Given the description of an element on the screen output the (x, y) to click on. 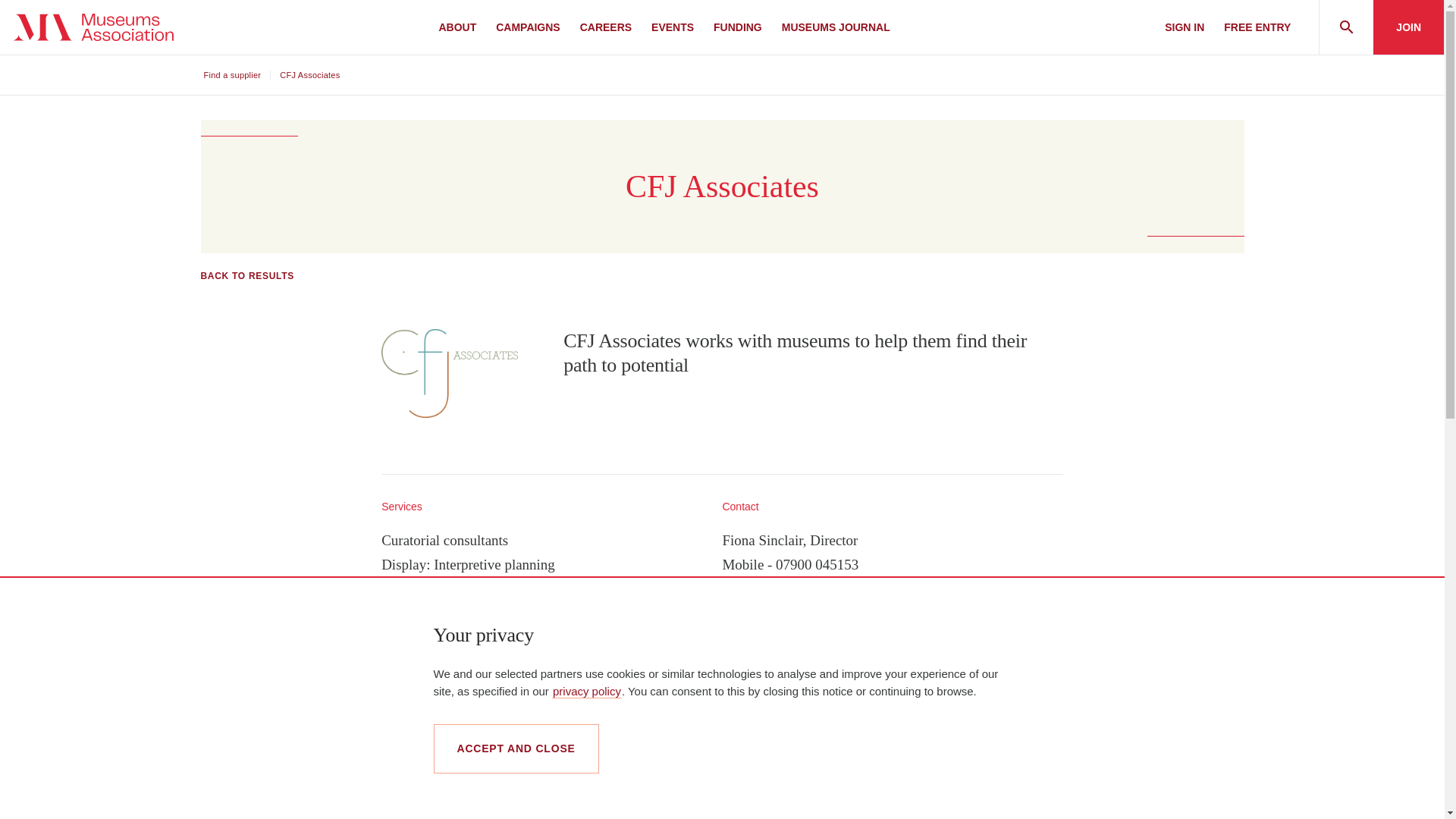
CAMPAIGNS (527, 27)
CAREERS (605, 27)
Privacy Policy (586, 690)
